Given the description of an element on the screen output the (x, y) to click on. 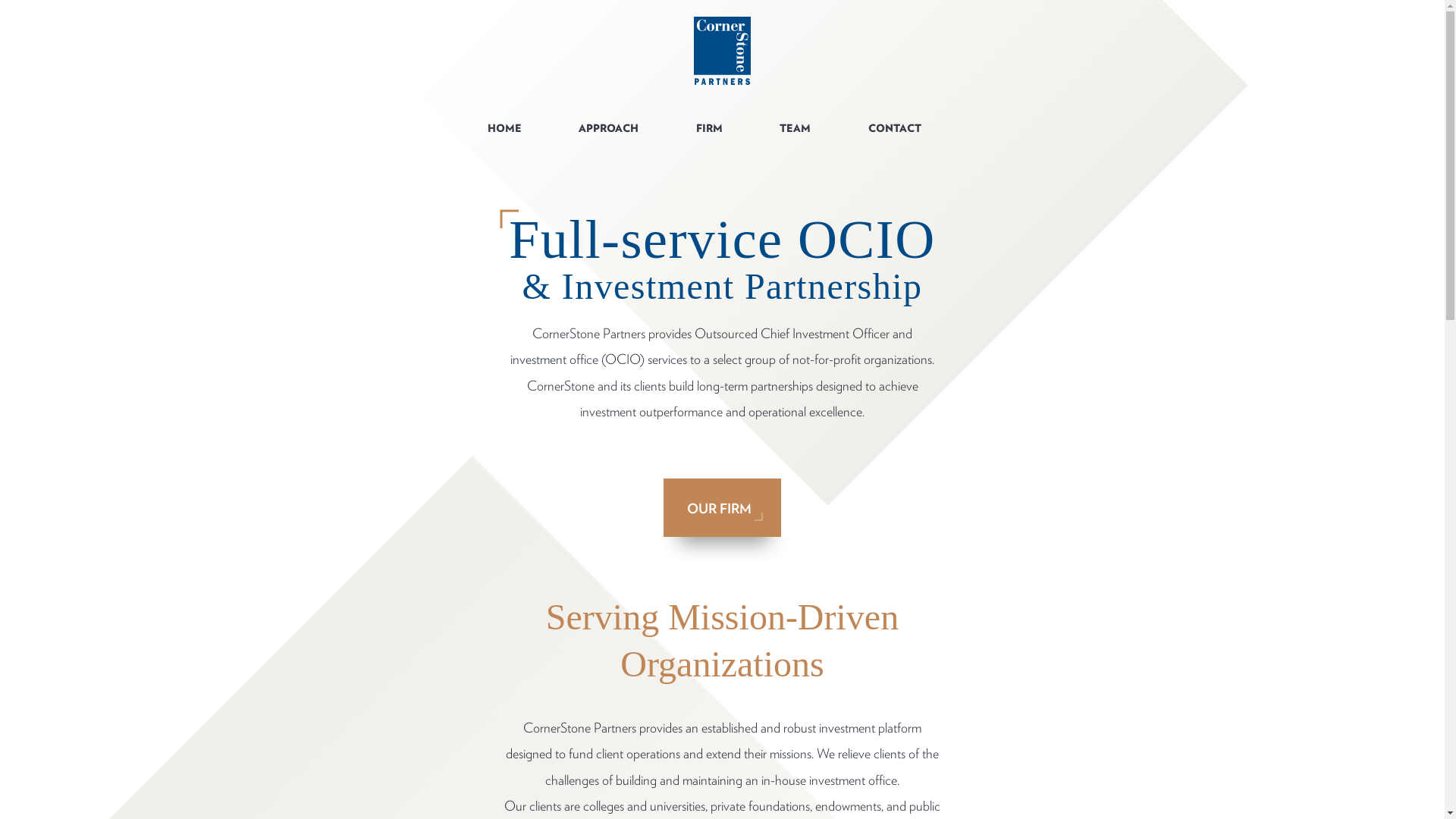
HOME (503, 127)
FIRM (709, 127)
APPROACH (608, 127)
OUR FIRM (721, 507)
CornerStone Partners (722, 50)
CONTACT (894, 127)
TEAM (794, 127)
